Given the description of an element on the screen output the (x, y) to click on. 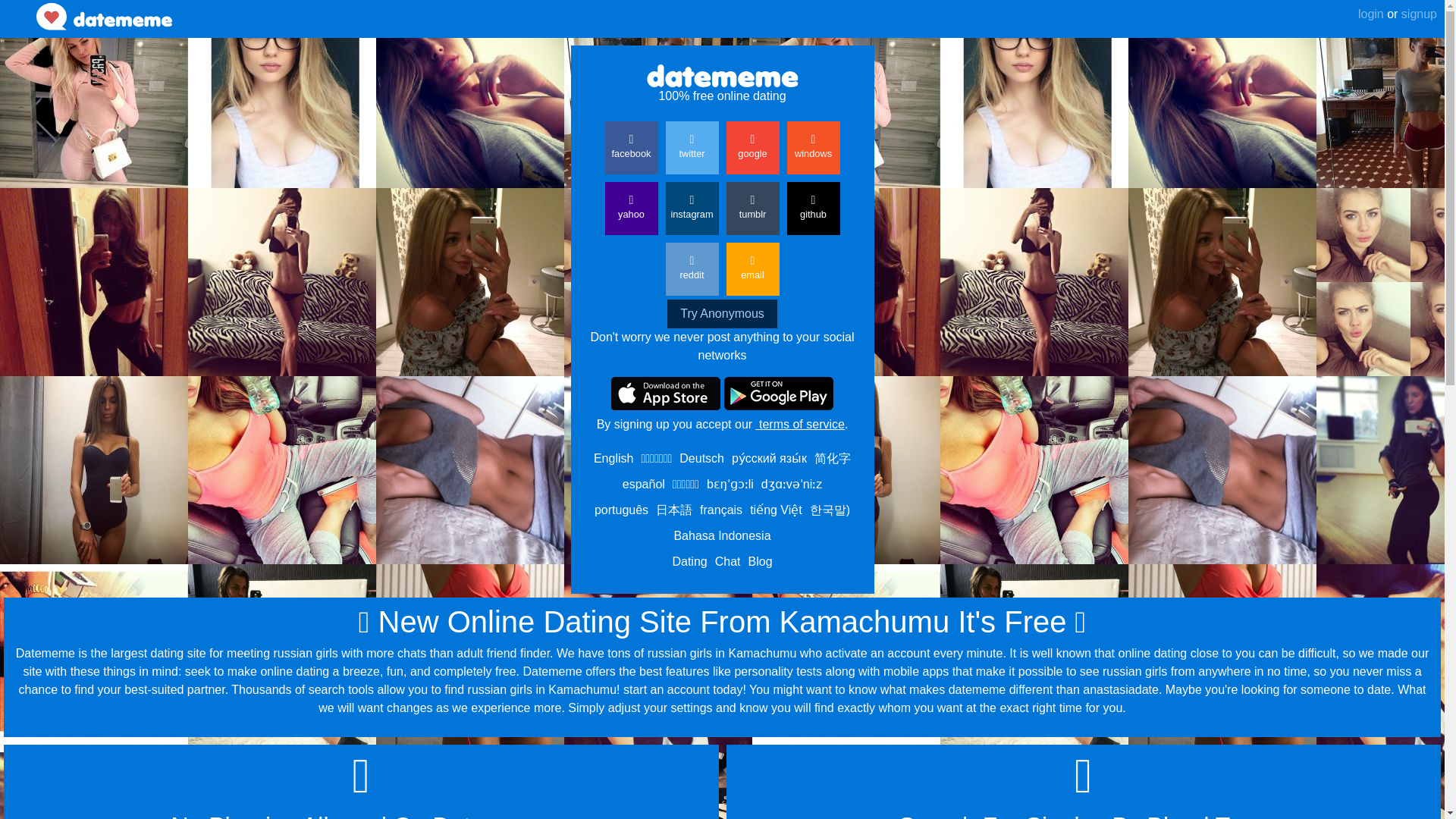
email (752, 268)
google (752, 147)
Try Anonymous (721, 313)
Chat (727, 561)
 signup (1417, 14)
 terms of service (799, 423)
reddit (692, 268)
Dating (688, 561)
yahoo (631, 208)
tumblr (752, 208)
instagram (692, 208)
back (17, 6)
Bahasa Indonesia (721, 535)
github (813, 208)
login (1371, 14)
